Given the description of an element on the screen output the (x, y) to click on. 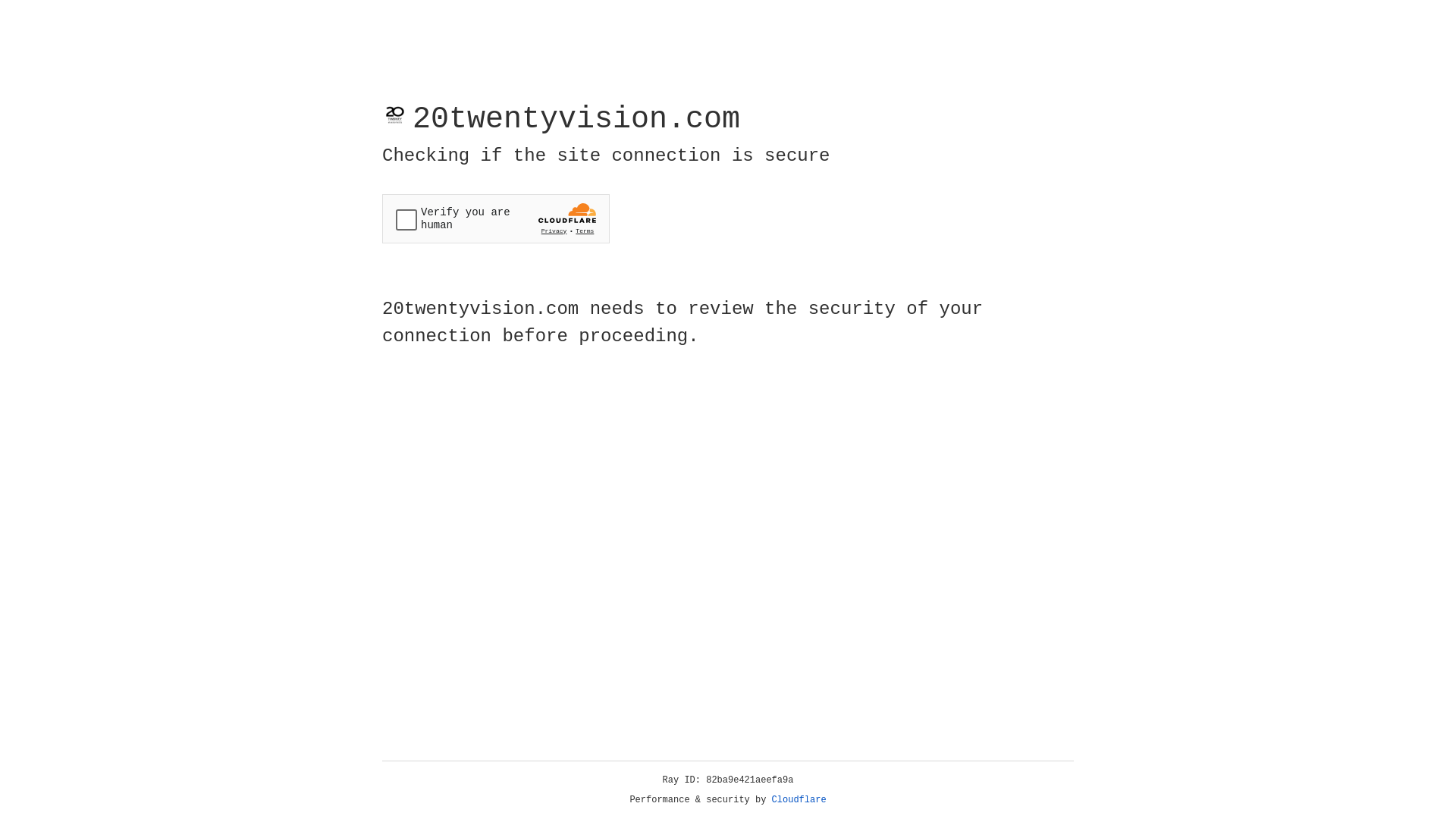
Widget containing a Cloudflare security challenge Element type: hover (495, 218)
Cloudflare Element type: text (798, 799)
